Given the description of an element on the screen output the (x, y) to click on. 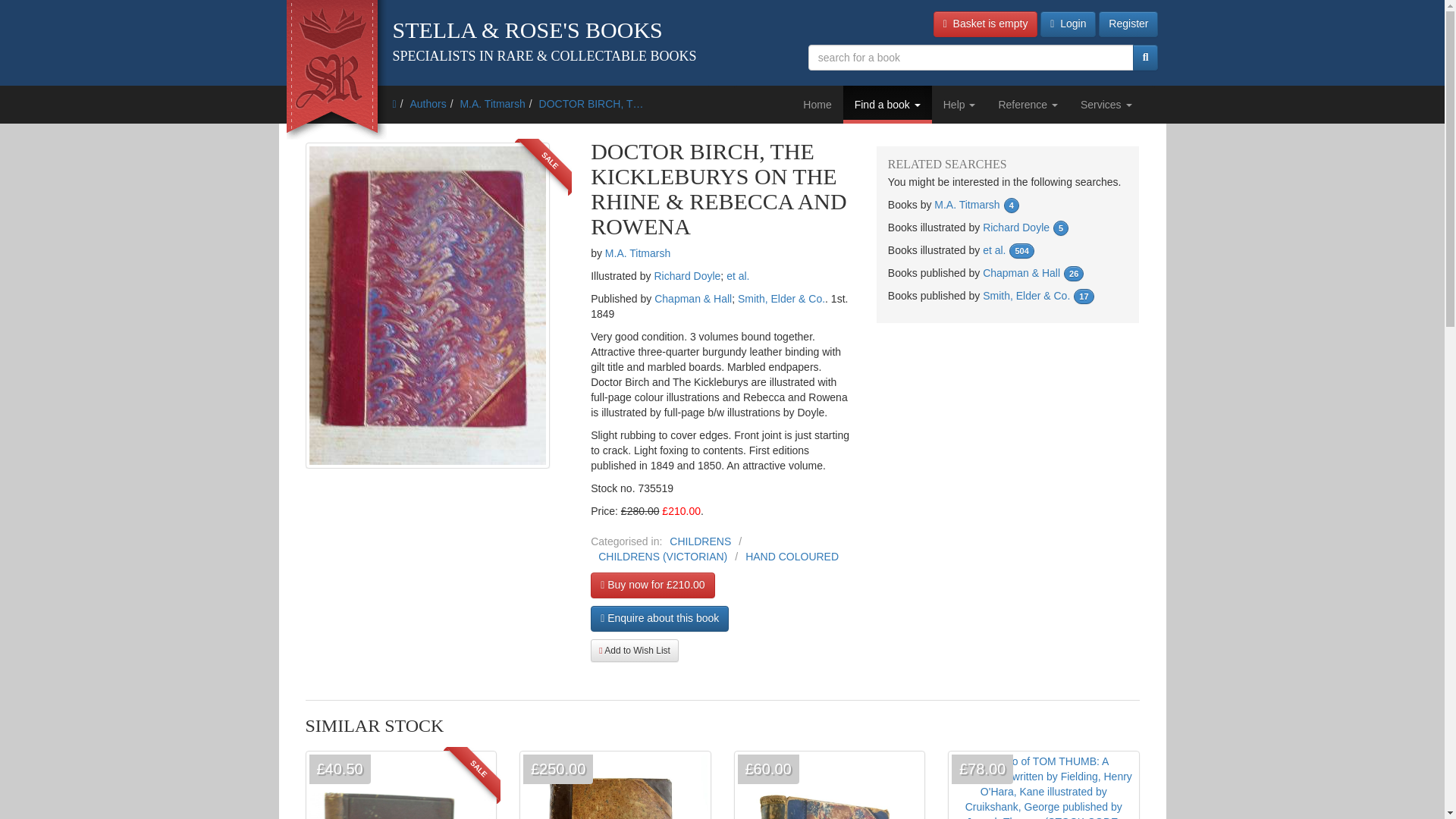
Services (1105, 104)
Reference (1027, 104)
Register (1128, 23)
Authors (427, 103)
Authors (427, 103)
M.A. Titmarsh (492, 103)
Find a book (887, 104)
  Basket is empty (985, 23)
Home (817, 104)
Help (959, 104)
